Given the description of an element on the screen output the (x, y) to click on. 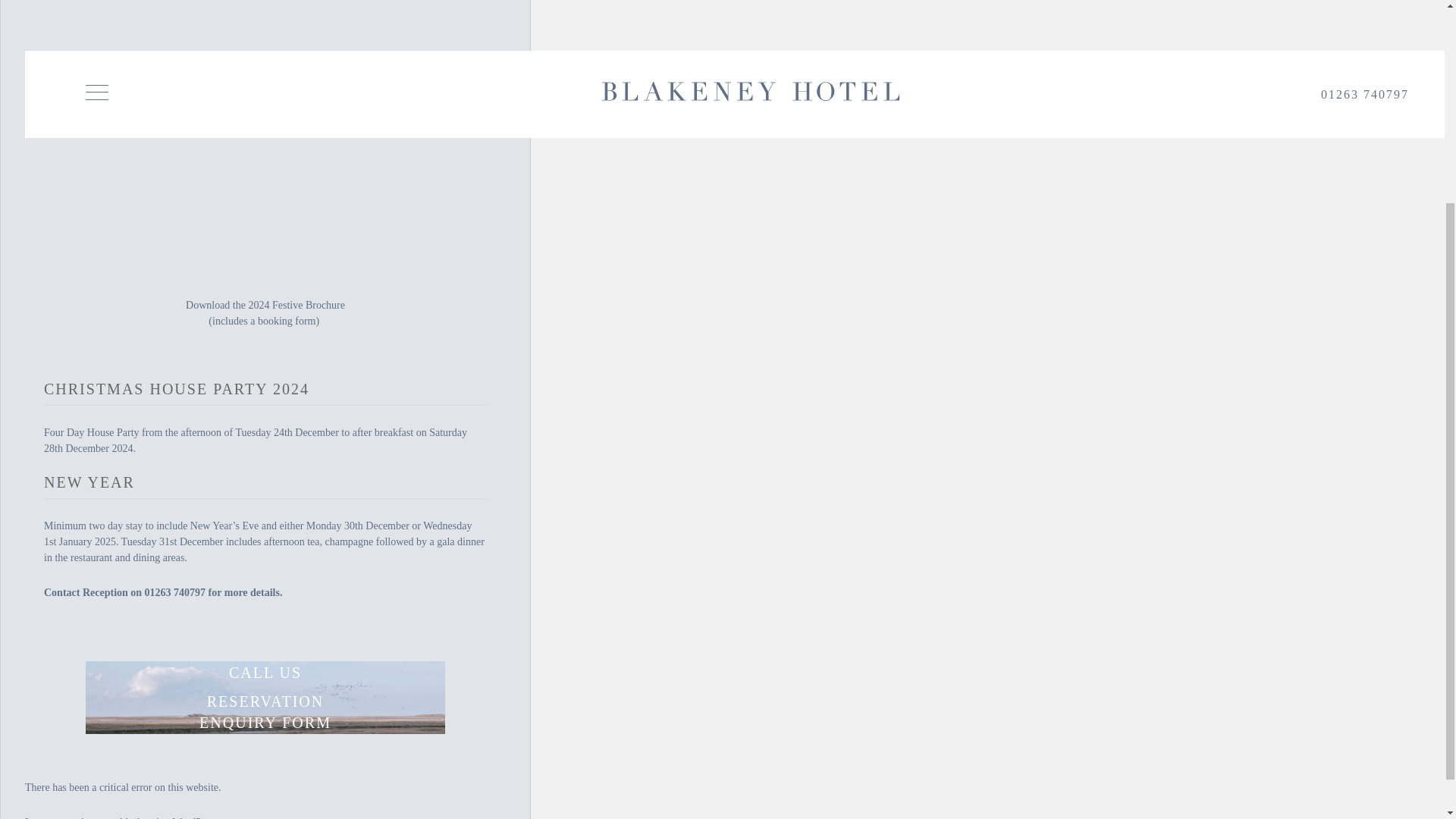
CALL US (265, 672)
RESERVATION ENQUIRY FORM (265, 712)
